Given the description of an element on the screen output the (x, y) to click on. 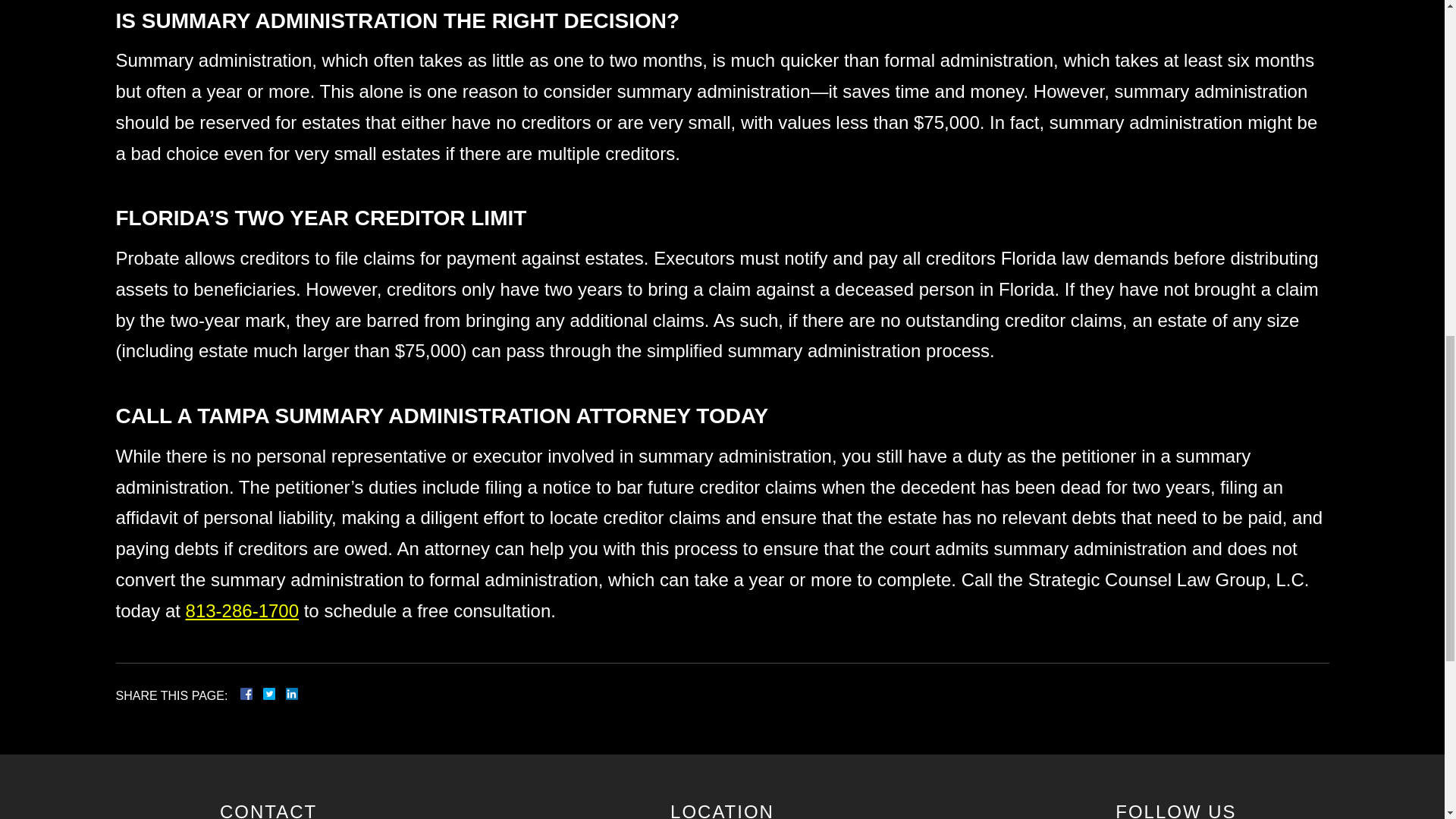
Twitter (274, 693)
Facebook (264, 693)
LinkedIn (286, 693)
